Given the description of an element on the screen output the (x, y) to click on. 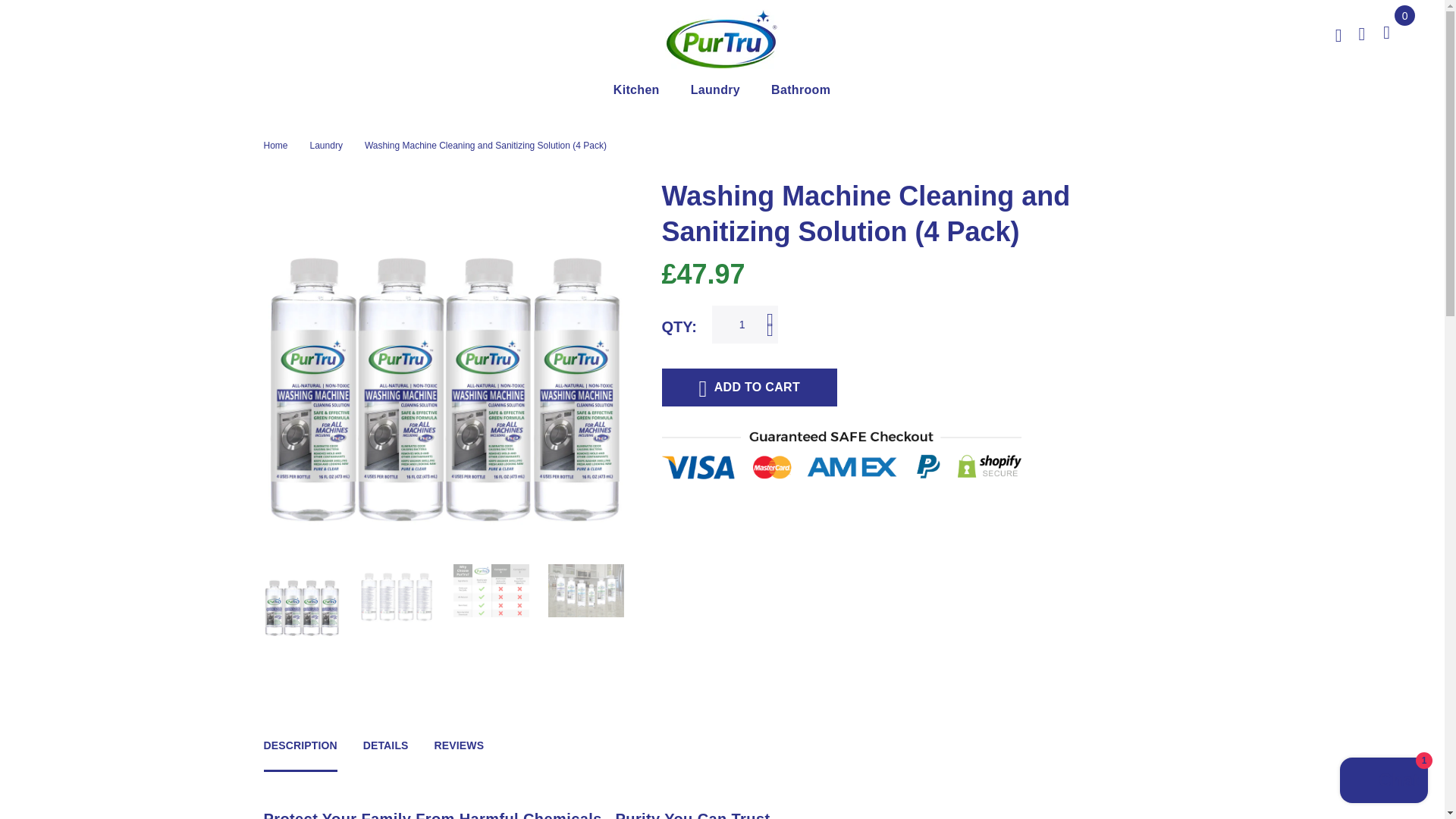
Shopify online store chat (1383, 781)
Kitchen (636, 91)
Bathroom (800, 91)
1 (744, 324)
Laundry (326, 145)
Home (275, 145)
Laundry (715, 91)
